Given the description of an element on the screen output the (x, y) to click on. 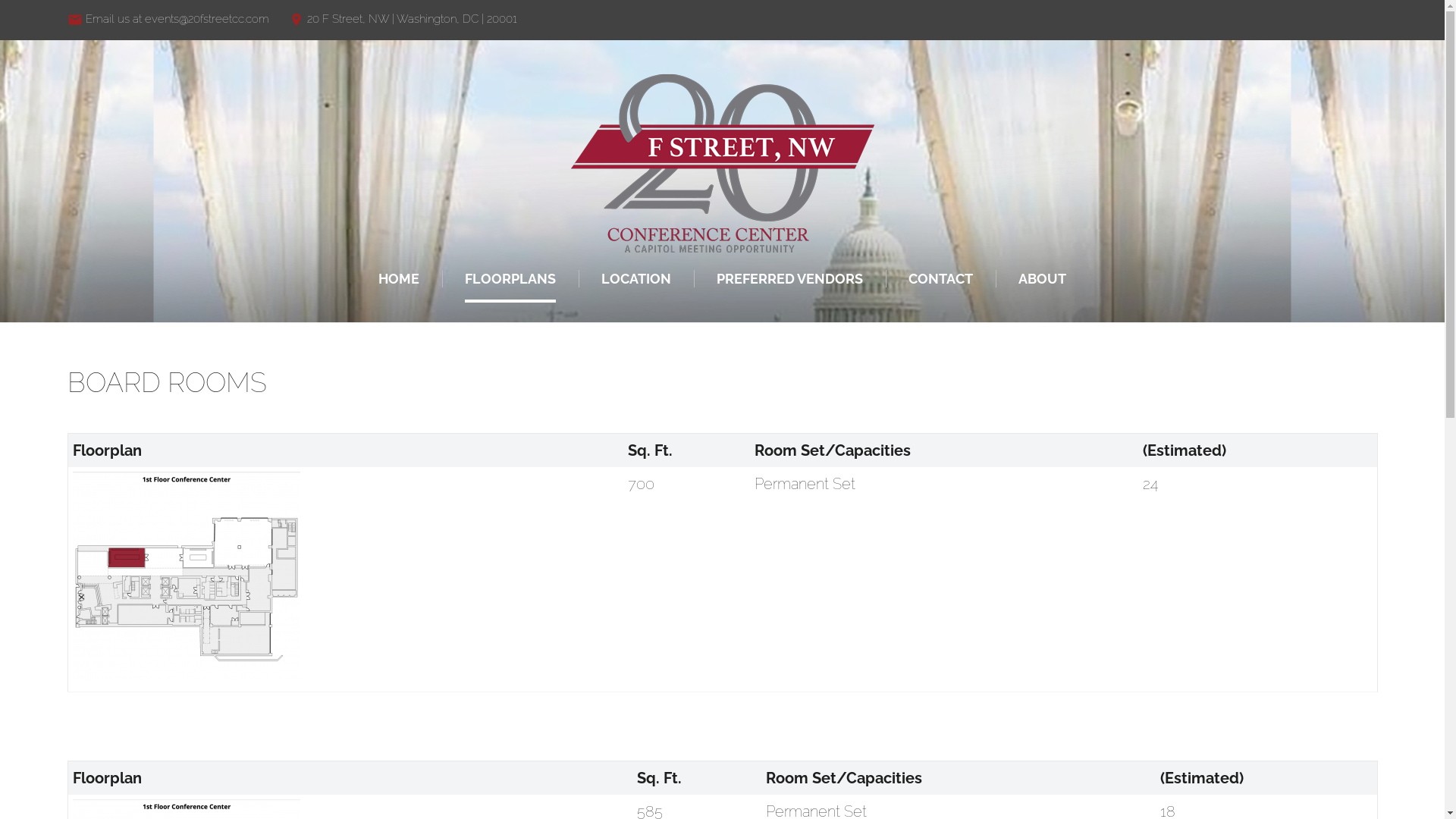
CONTACT Element type: text (940, 278)
ABOUT Element type: text (1042, 278)
LOCATION Element type: text (636, 278)
FLOORPLANS Element type: text (509, 278)
Skip to content Element type: text (0, 0)
PREFERRED VENDORS Element type: text (789, 278)
HOME Element type: text (398, 278)
